Given the description of an element on the screen output the (x, y) to click on. 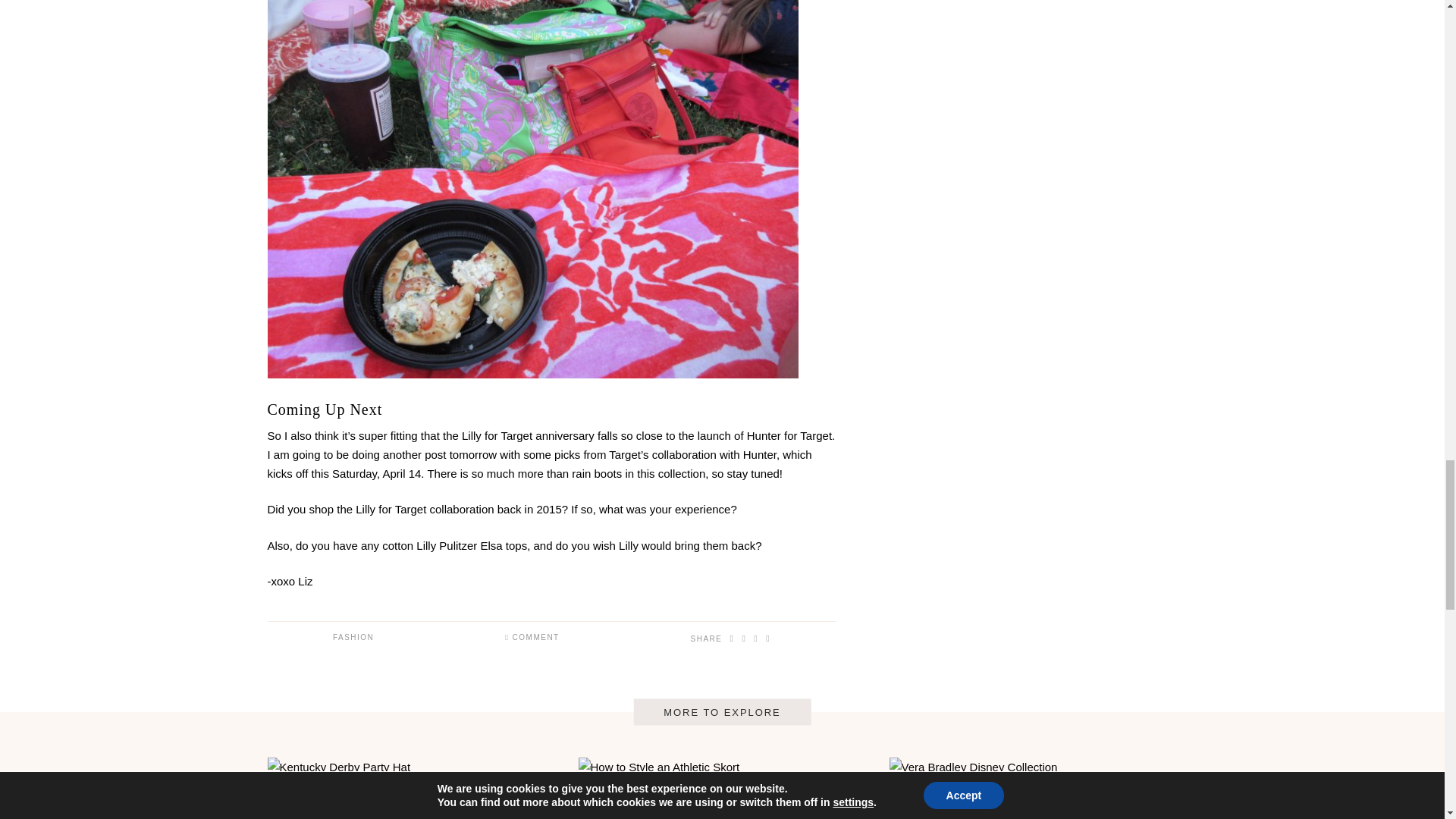
View all posts in Fashion (353, 637)
